Given the description of an element on the screen output the (x, y) to click on. 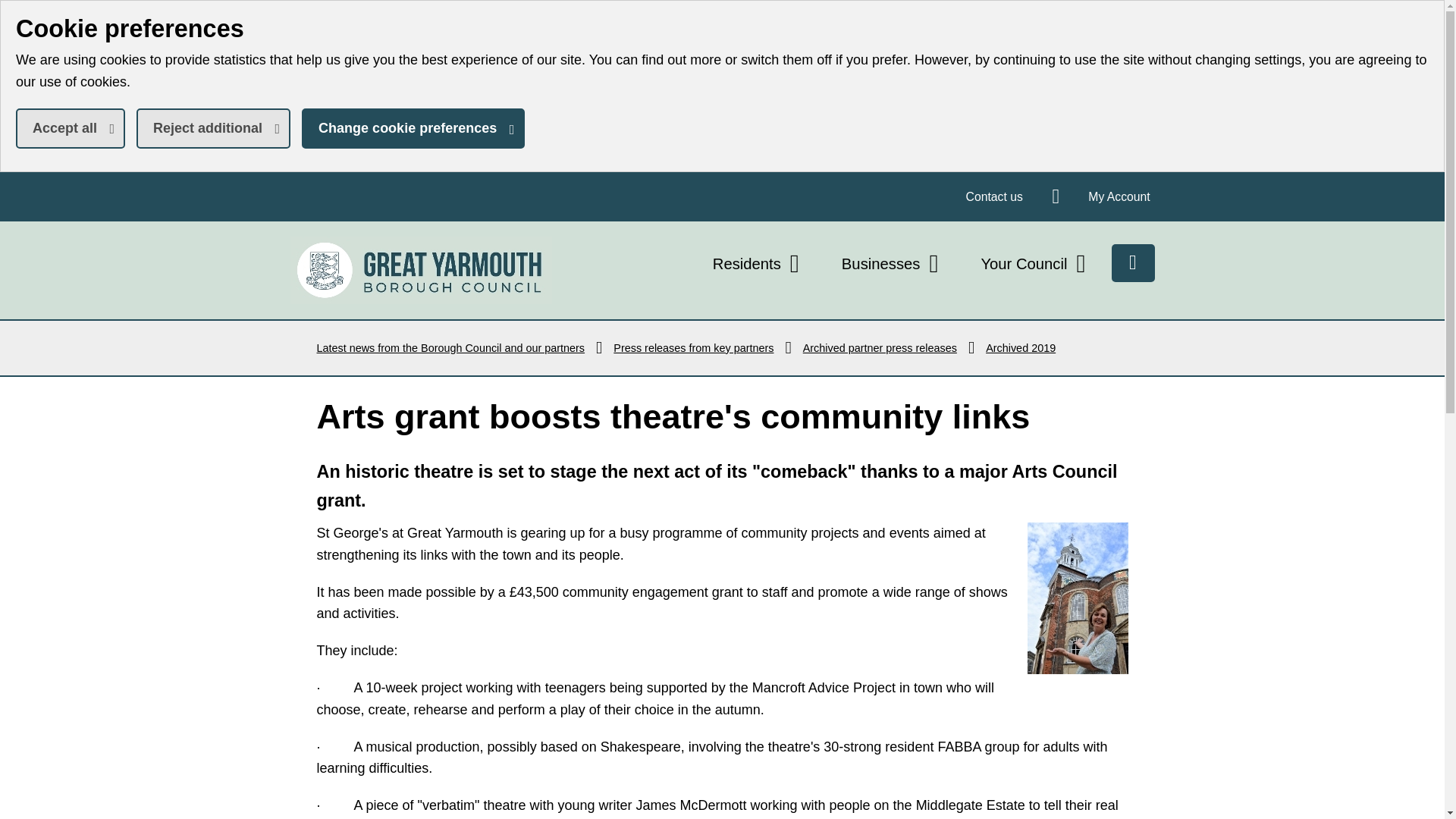
My Account (420, 270)
Change cookie preferences (1119, 196)
Skip to main content (412, 128)
Accept all (11, 11)
Residents (70, 128)
Reject additional (757, 263)
Contact us (212, 128)
